Given the description of an element on the screen output the (x, y) to click on. 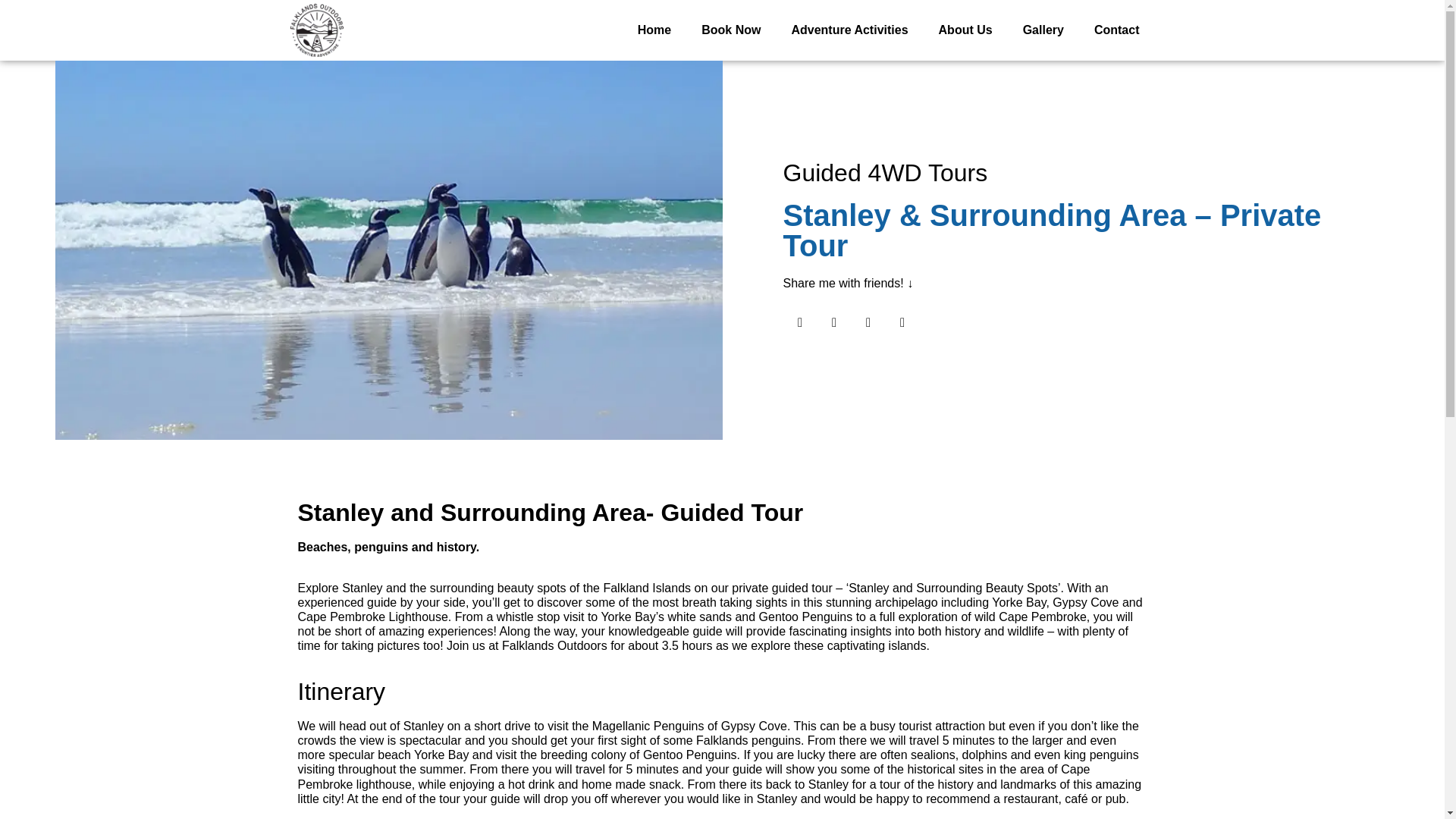
Home (654, 30)
About Us (965, 30)
Contact (1116, 30)
Gallery (1042, 30)
Adventure Activities (849, 30)
Book Now (730, 30)
